Given the description of an element on the screen output the (x, y) to click on. 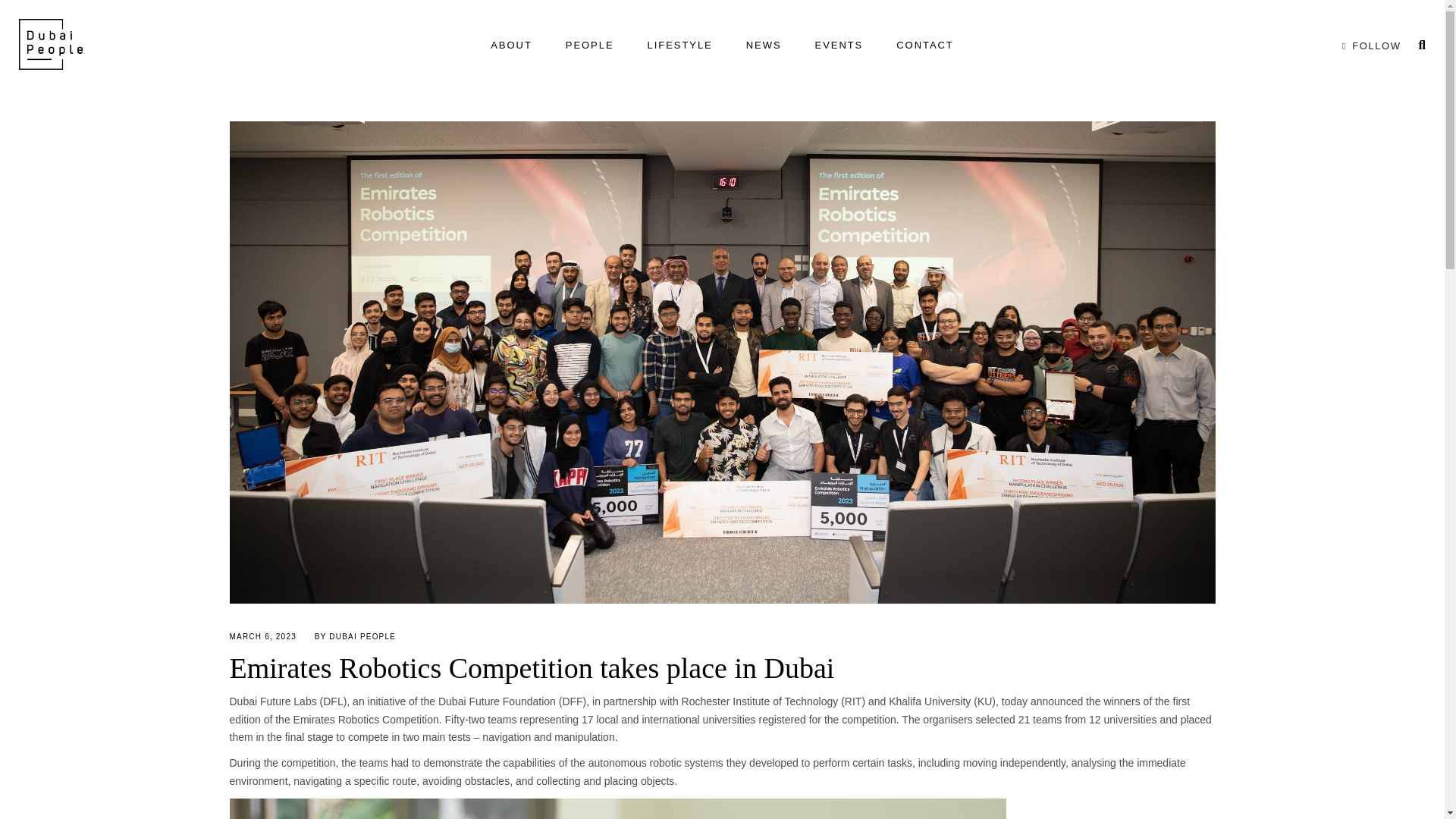
EVENTS (838, 45)
LIFESTYLE (679, 45)
MARCH 6, 2023 (261, 636)
FOLLOW (1368, 45)
NEWS (763, 45)
CONTACT (925, 45)
ABOUT (511, 45)
PEOPLE (589, 45)
DUBAI PEOPLE (362, 636)
